Given the description of an element on the screen output the (x, y) to click on. 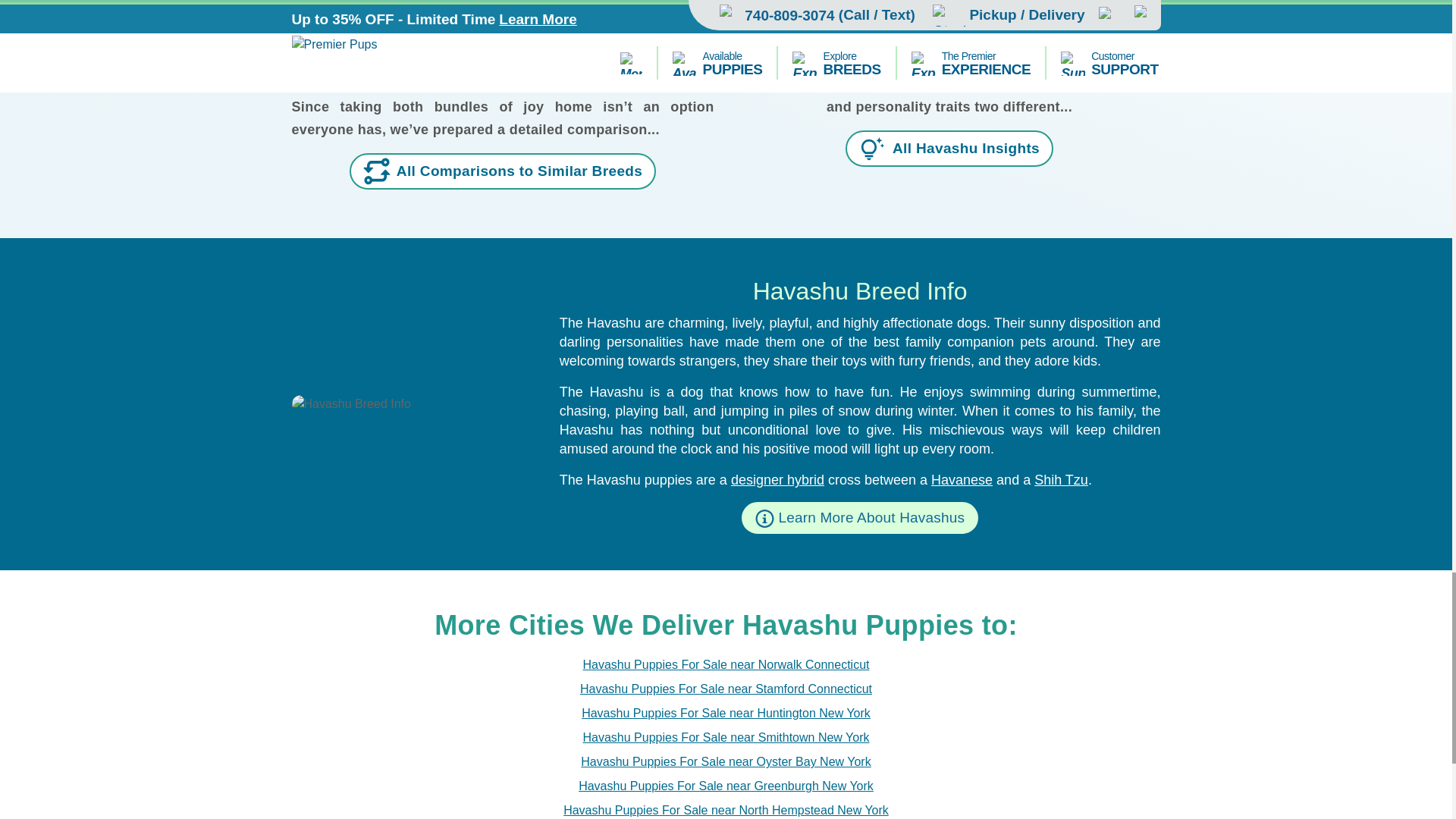
designer hybrid (777, 479)
All Havashu Insights (948, 148)
Shih Tzu (1060, 479)
Havashu Puppies For Sale near Stamford Connecticut (725, 689)
Havashu Puppies For Sale near Greenburgh New York (725, 786)
Learn More About Havashus (859, 517)
Havanese (961, 479)
Havashu Puppies For Sale near Smithtown New York (725, 737)
All Comparisons to Similar Breeds (502, 171)
Havashu Puppies For Sale near North Hempstead New York (725, 810)
Havashu Breed Info (412, 403)
Havashu Puppies For Sale near Norwalk Connecticut (726, 665)
Havashu Puppies For Sale near Oyster Bay New York (725, 761)
Havashu Puppies For Sale near Huntington New York (725, 713)
